Given the description of an element on the screen output the (x, y) to click on. 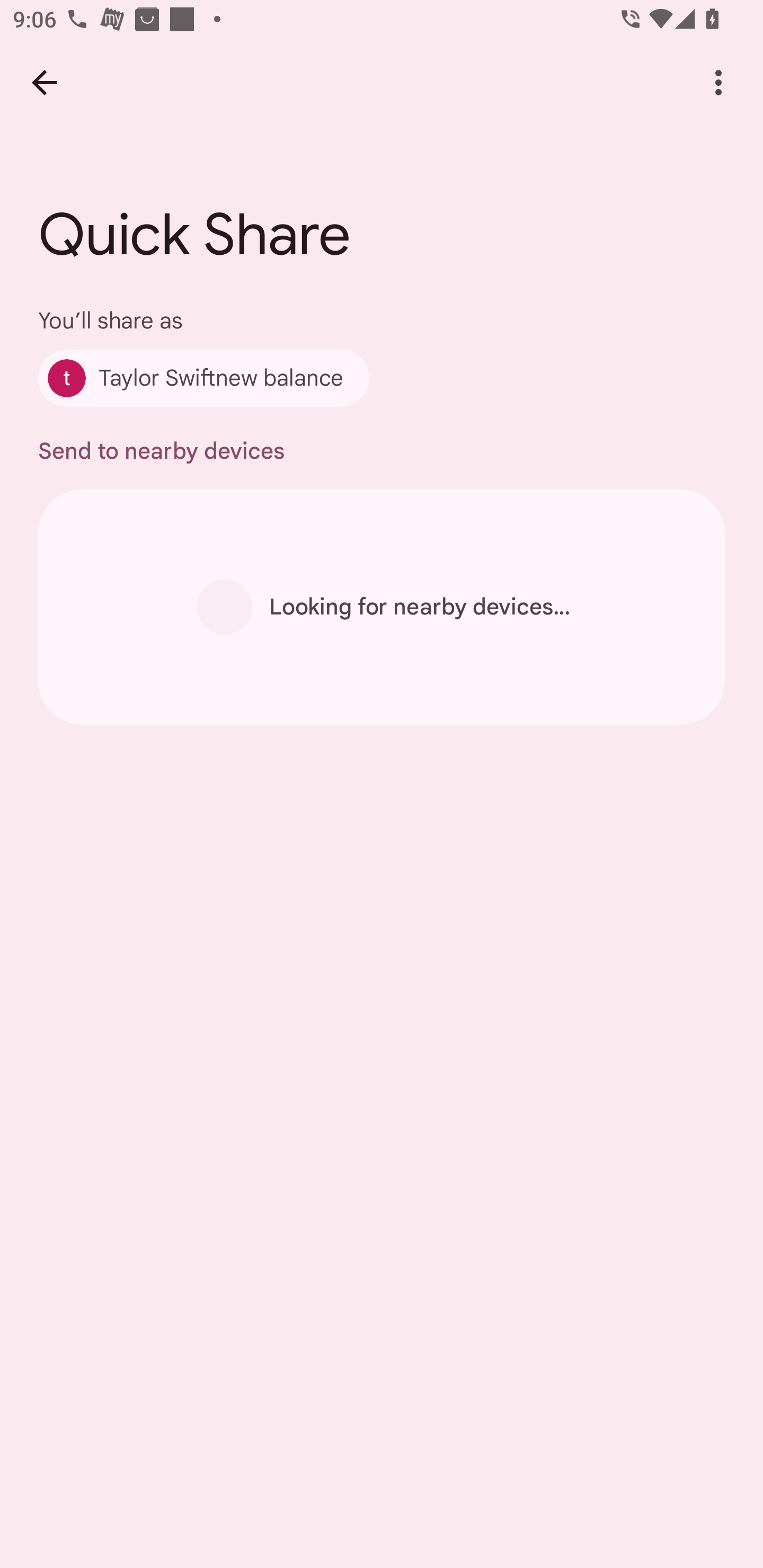
Back (44, 81)
More (718, 81)
Taylor Swiftnew balance (203, 378)
